Given the description of an element on the screen output the (x, y) to click on. 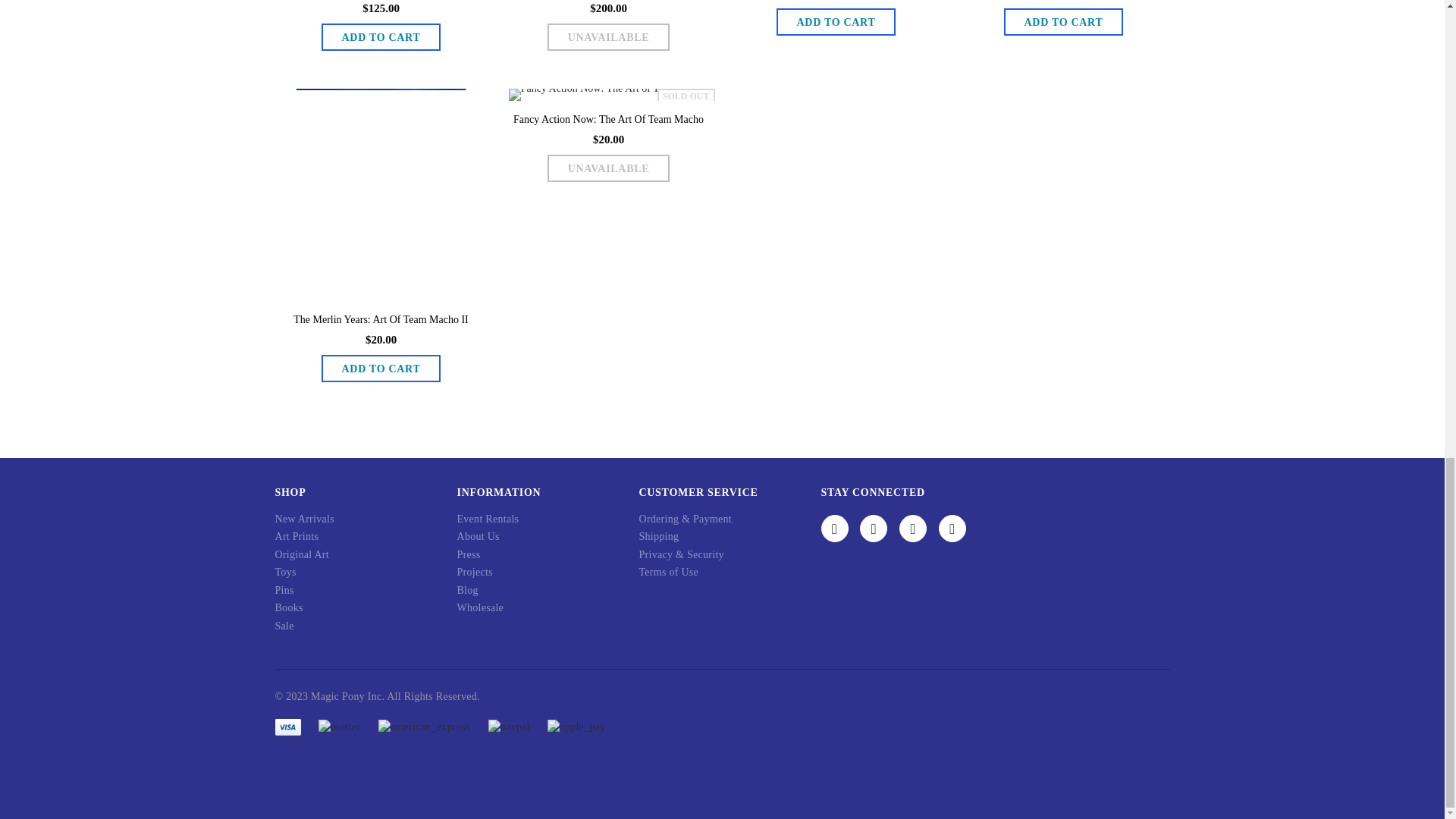
Unavailable (608, 167)
Add to Cart (381, 36)
Twitter (873, 528)
Add to Cart (381, 368)
Add to Cart (1064, 22)
Pinterest (952, 528)
Unavailable (608, 36)
Add to Cart (836, 22)
Instagram (912, 528)
Facebook (834, 528)
